Given the description of an element on the screen output the (x, y) to click on. 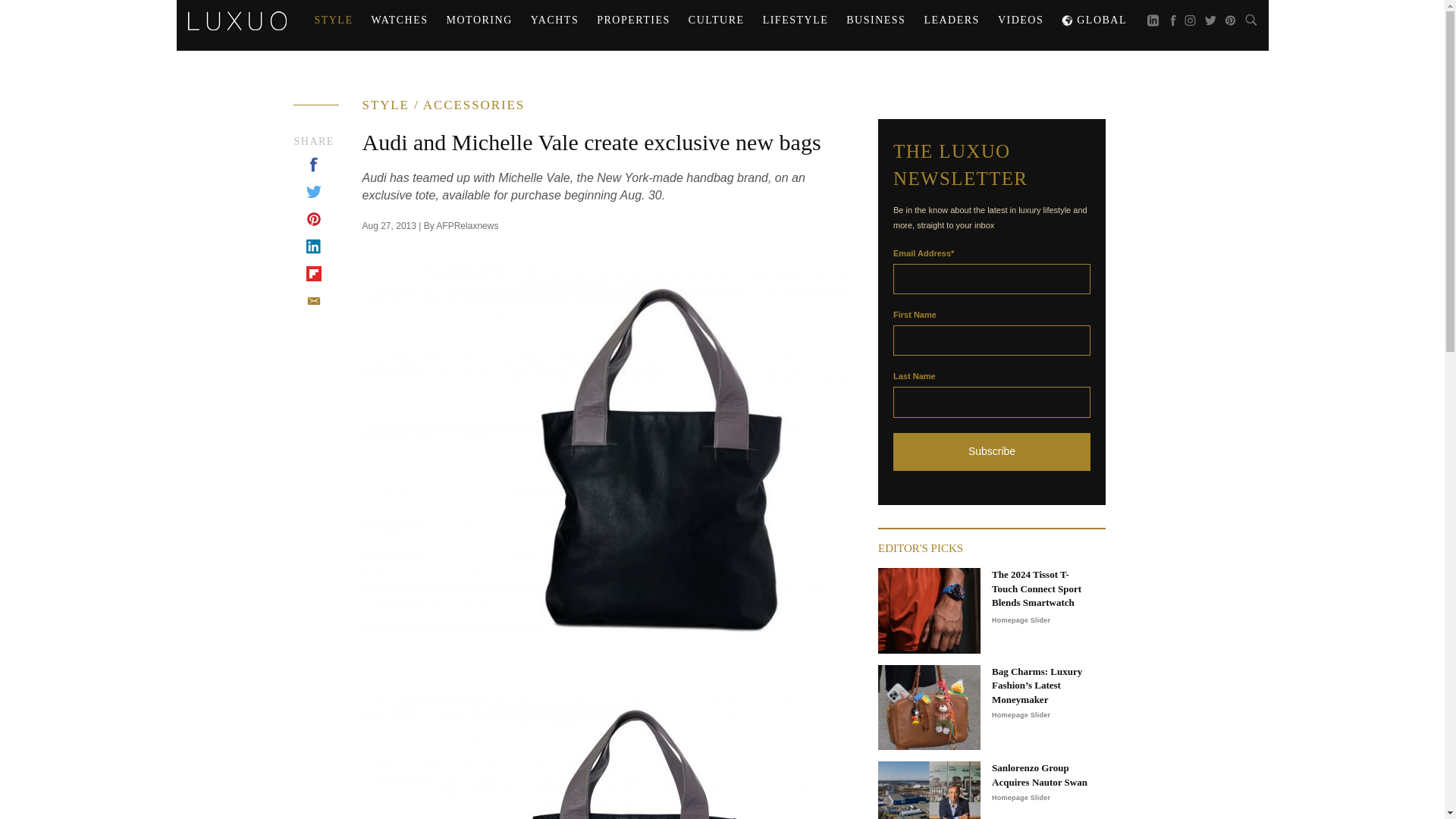
WATCHES (398, 20)
STYLE (332, 20)
YACHTS (554, 20)
PROPERTIES (633, 20)
LUXUO - The Luxury Lifestyle Portal (236, 20)
MOTORING (479, 20)
LUXUO - The Luxury Lifestyle Portal (236, 18)
Subscribe (991, 451)
